Given the description of an element on the screen output the (x, y) to click on. 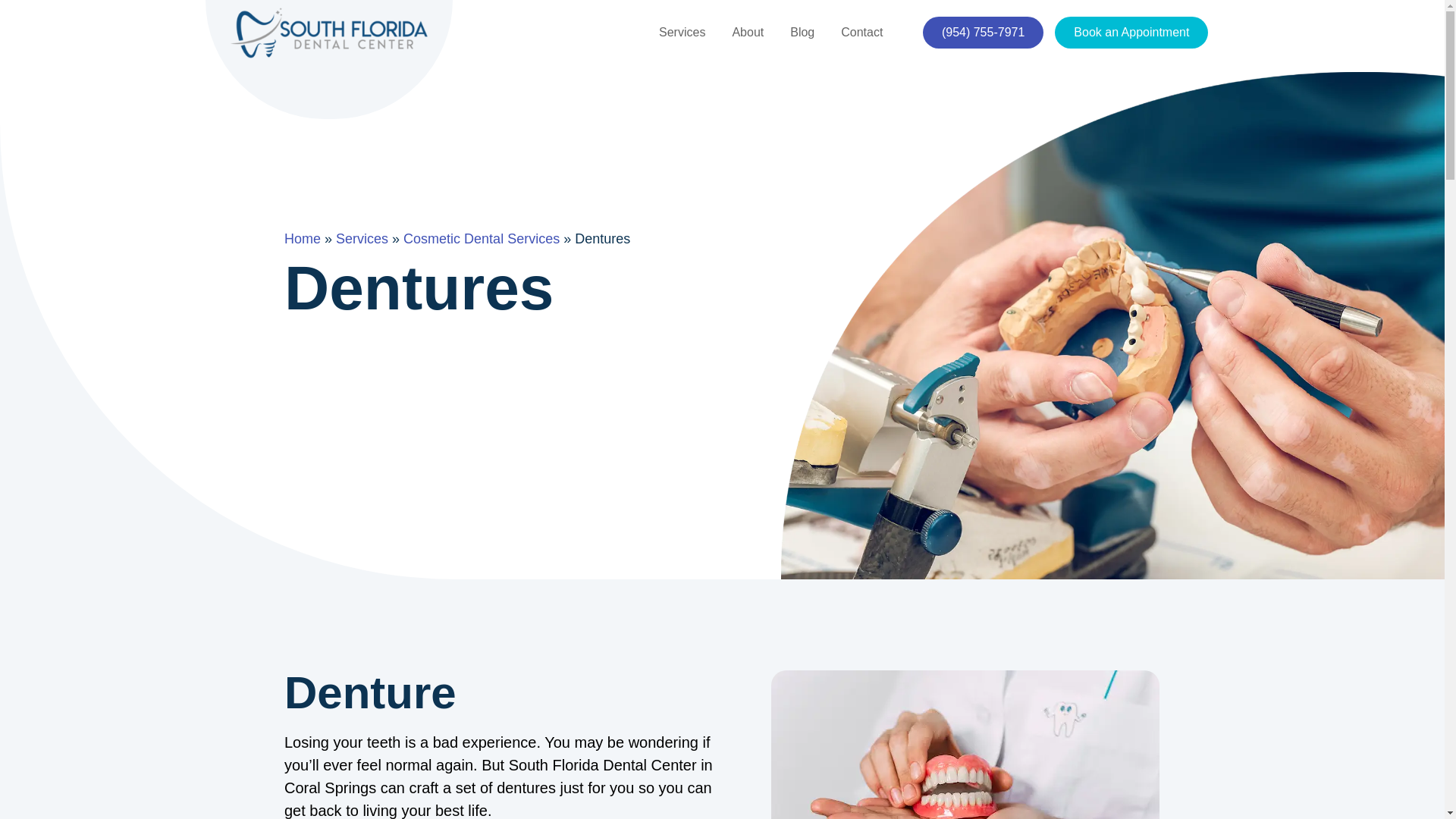
About (747, 32)
Services (681, 32)
Contact (861, 32)
